Given the description of an element on the screen output the (x, y) to click on. 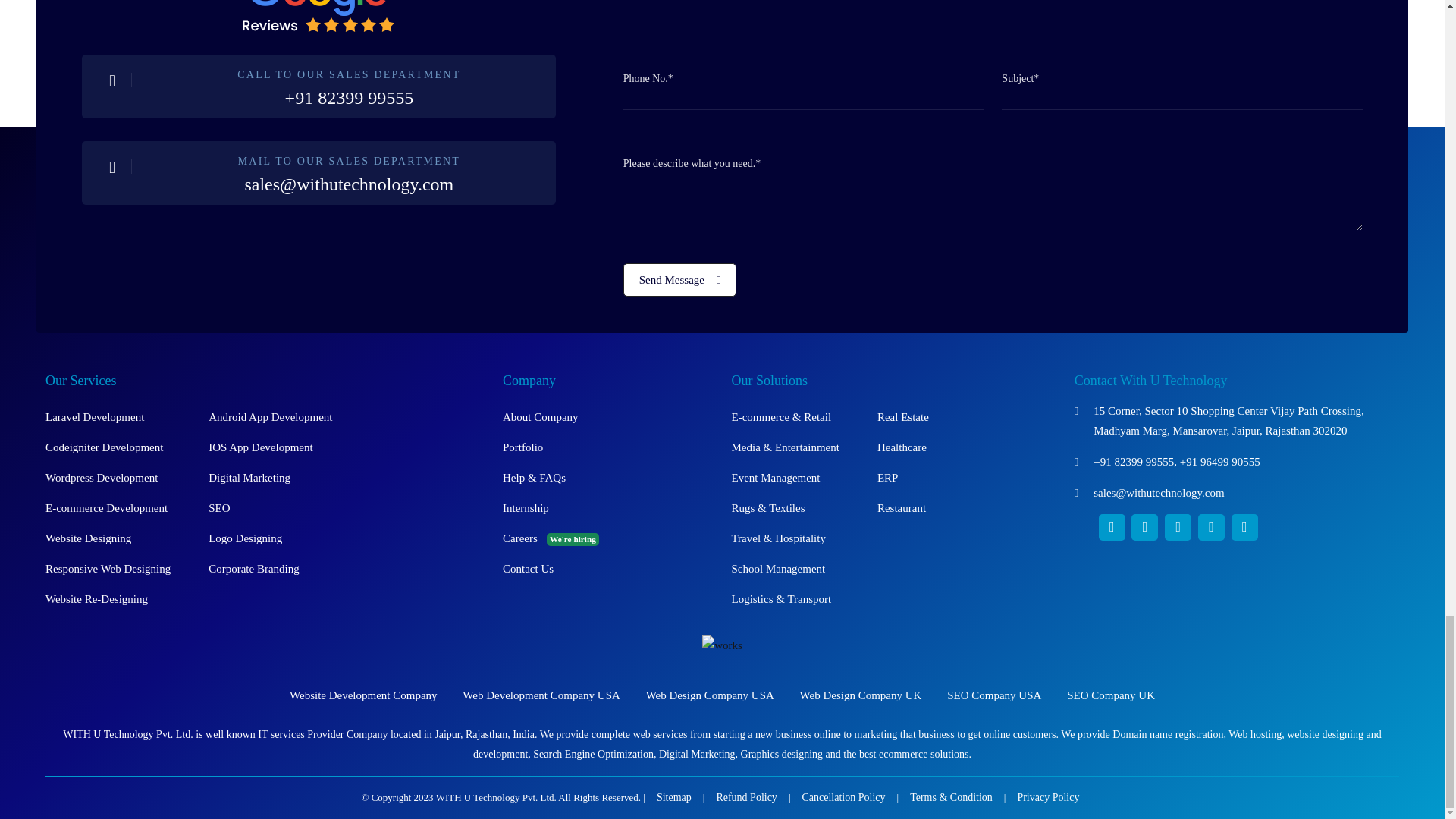
Call To Action (318, 85)
Email (318, 172)
Submit Query (679, 279)
